Given the description of an element on the screen output the (x, y) to click on. 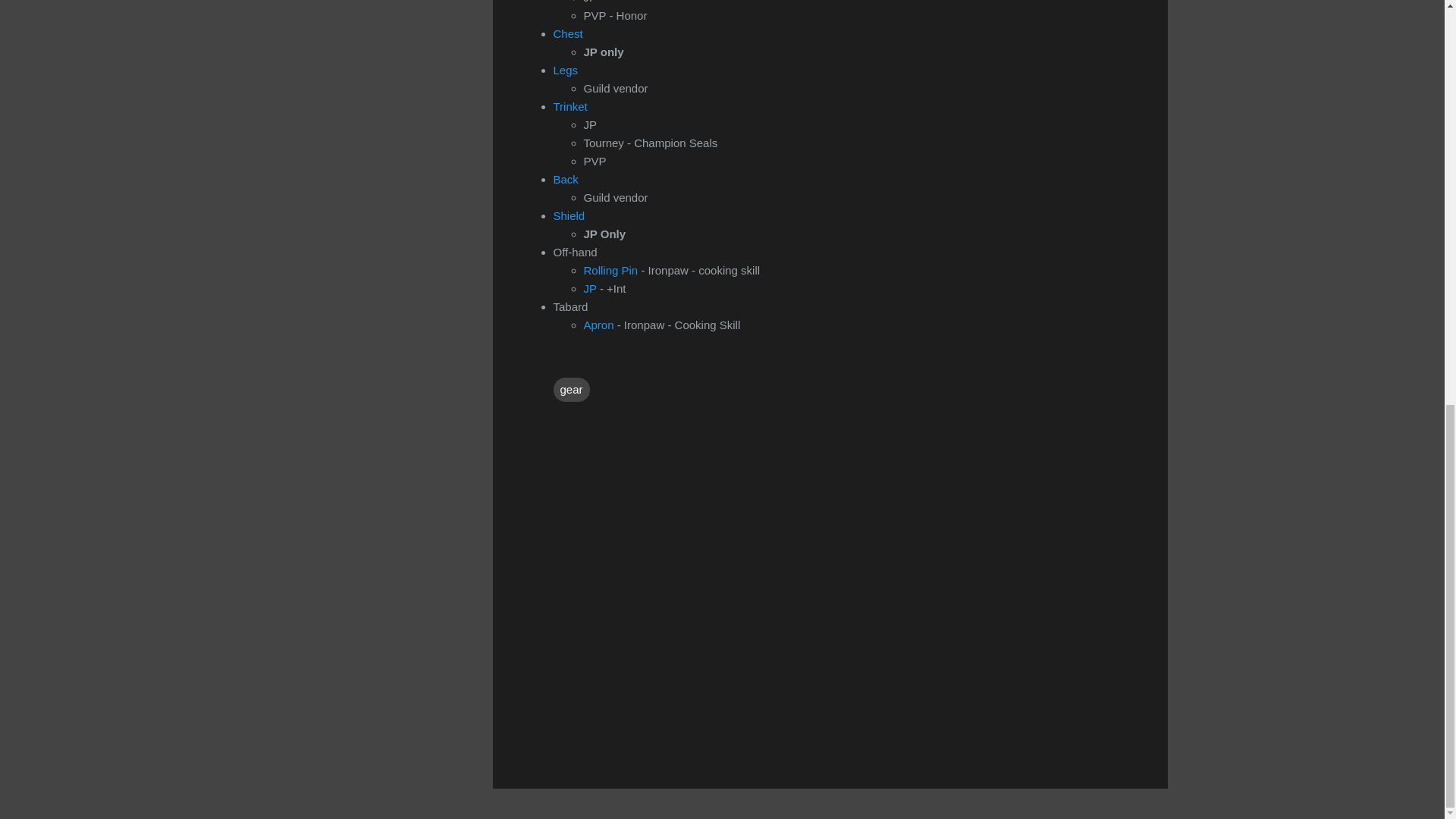
Chest (568, 32)
Legs (565, 69)
Shield  (570, 214)
gear (571, 388)
JP (589, 287)
Rolling Pin (611, 269)
Back (565, 178)
Apron (600, 323)
Trinket (570, 105)
